Given the description of an element on the screen output the (x, y) to click on. 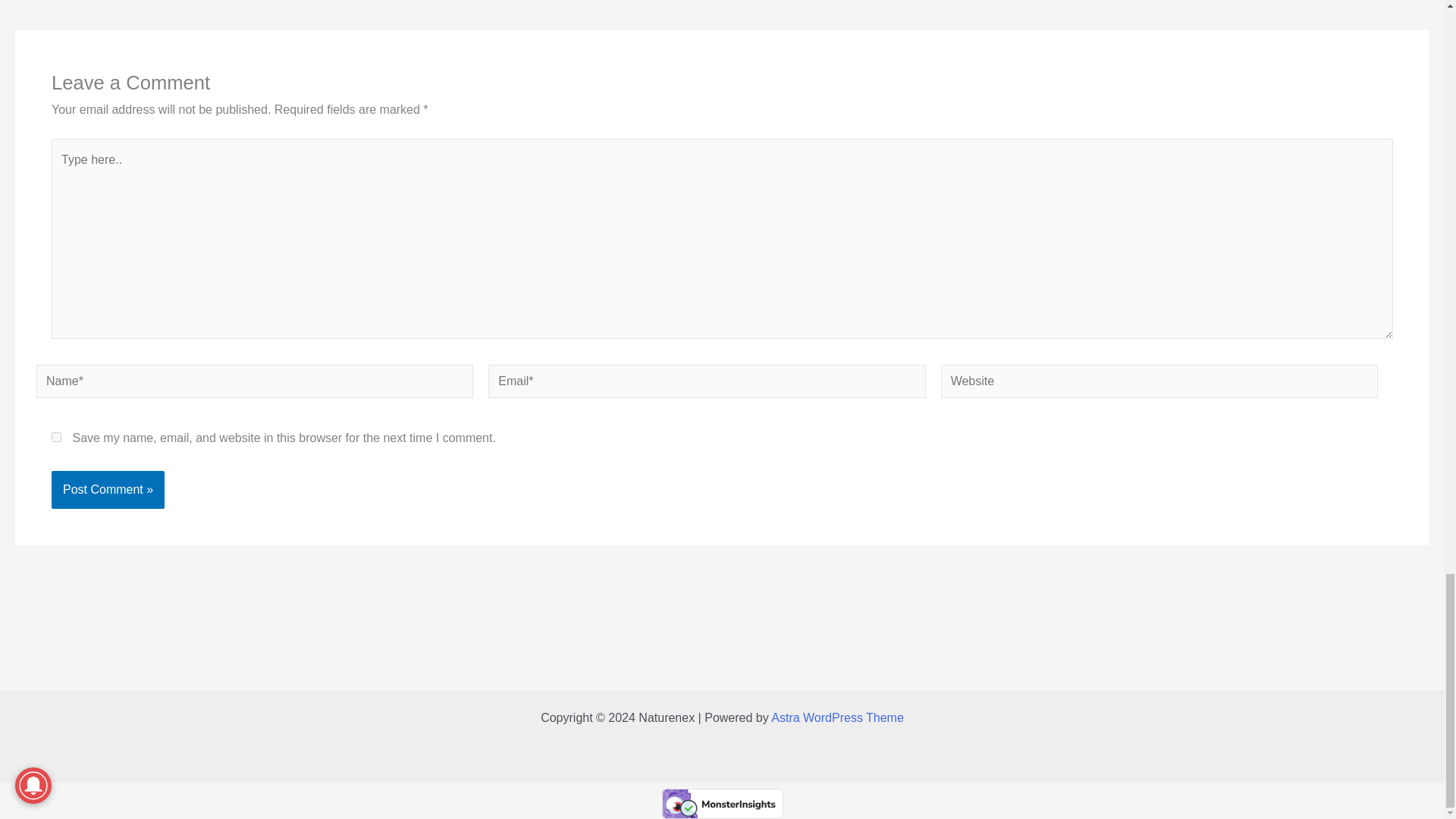
yes (55, 437)
Astra WordPress Theme (837, 716)
